Given the description of an element on the screen output the (x, y) to click on. 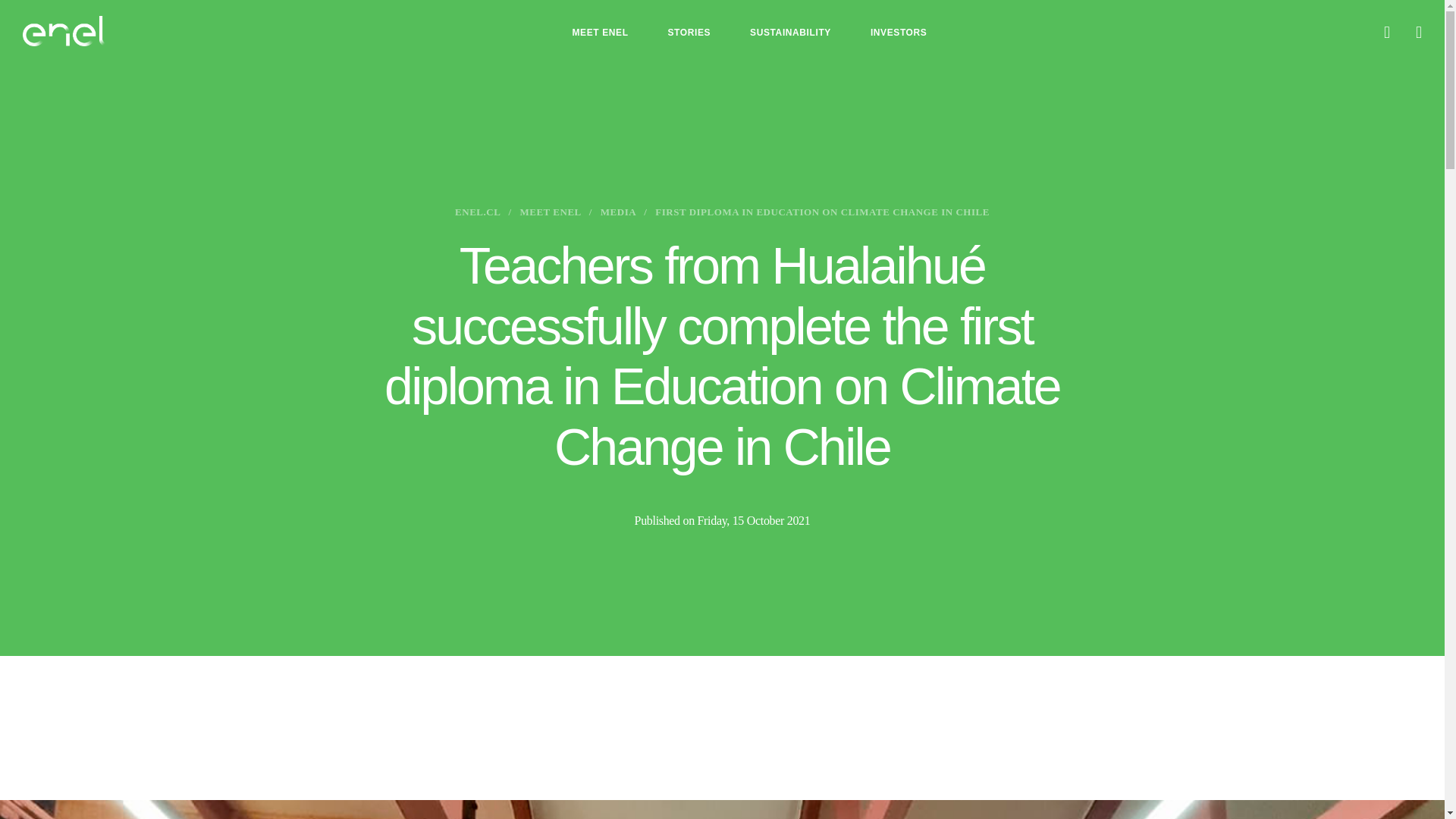
STORIES (688, 32)
Ir al inicio del sitio. (63, 30)
MEET ENEL (599, 32)
SUSTAINABILITY (790, 32)
INVESTORS (899, 32)
